Given the description of an element on the screen output the (x, y) to click on. 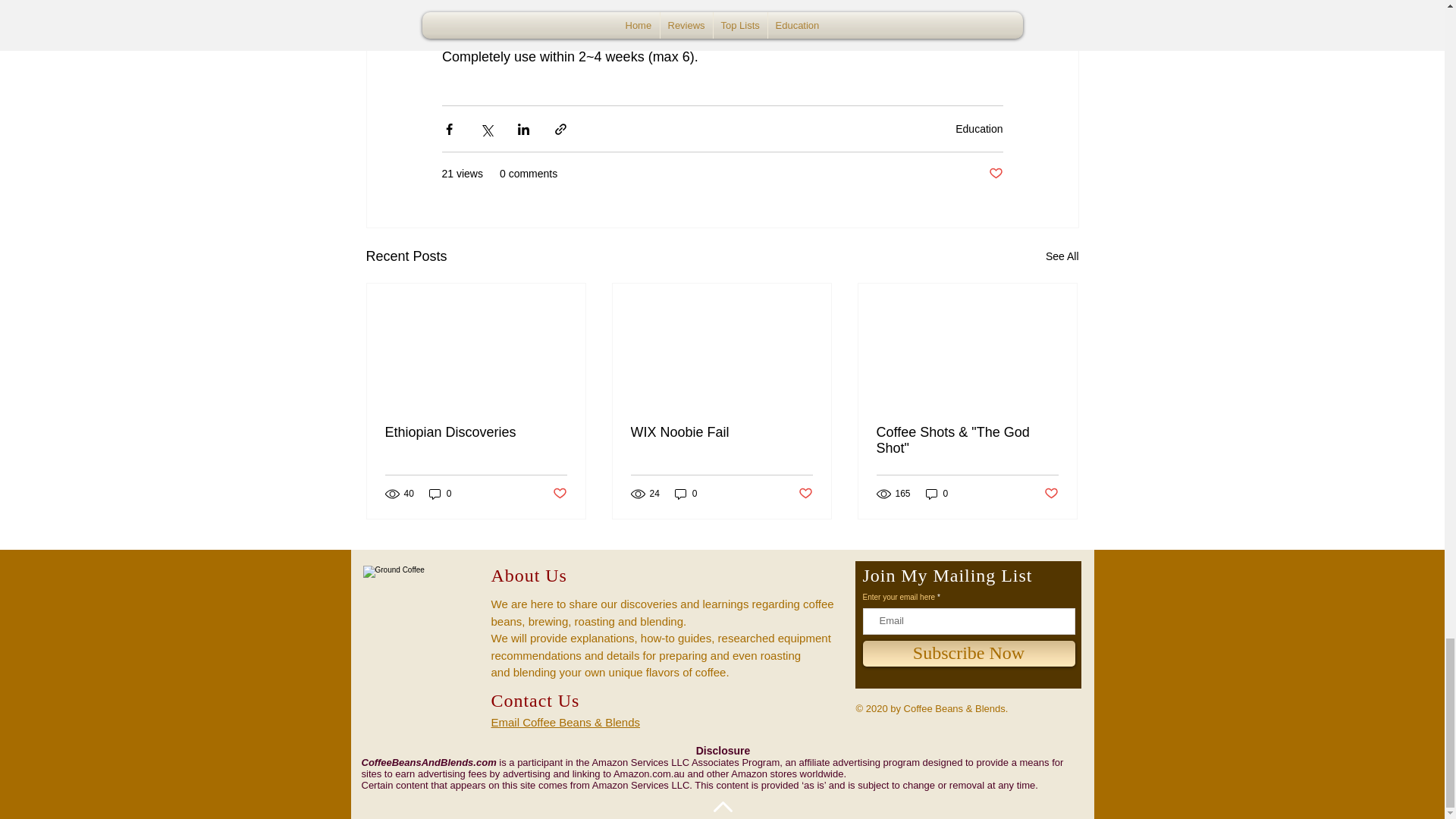
Post not marked as liked (804, 493)
Education (979, 128)
0 (685, 493)
0 (440, 493)
Post not marked as liked (558, 493)
0 (937, 493)
Post not marked as liked (995, 173)
Subscribe Now (969, 653)
Post not marked as liked (1050, 493)
See All (1061, 256)
WIX Noobie Fail (721, 432)
Ethiopian Discoveries (476, 432)
